Given the description of an element on the screen output the (x, y) to click on. 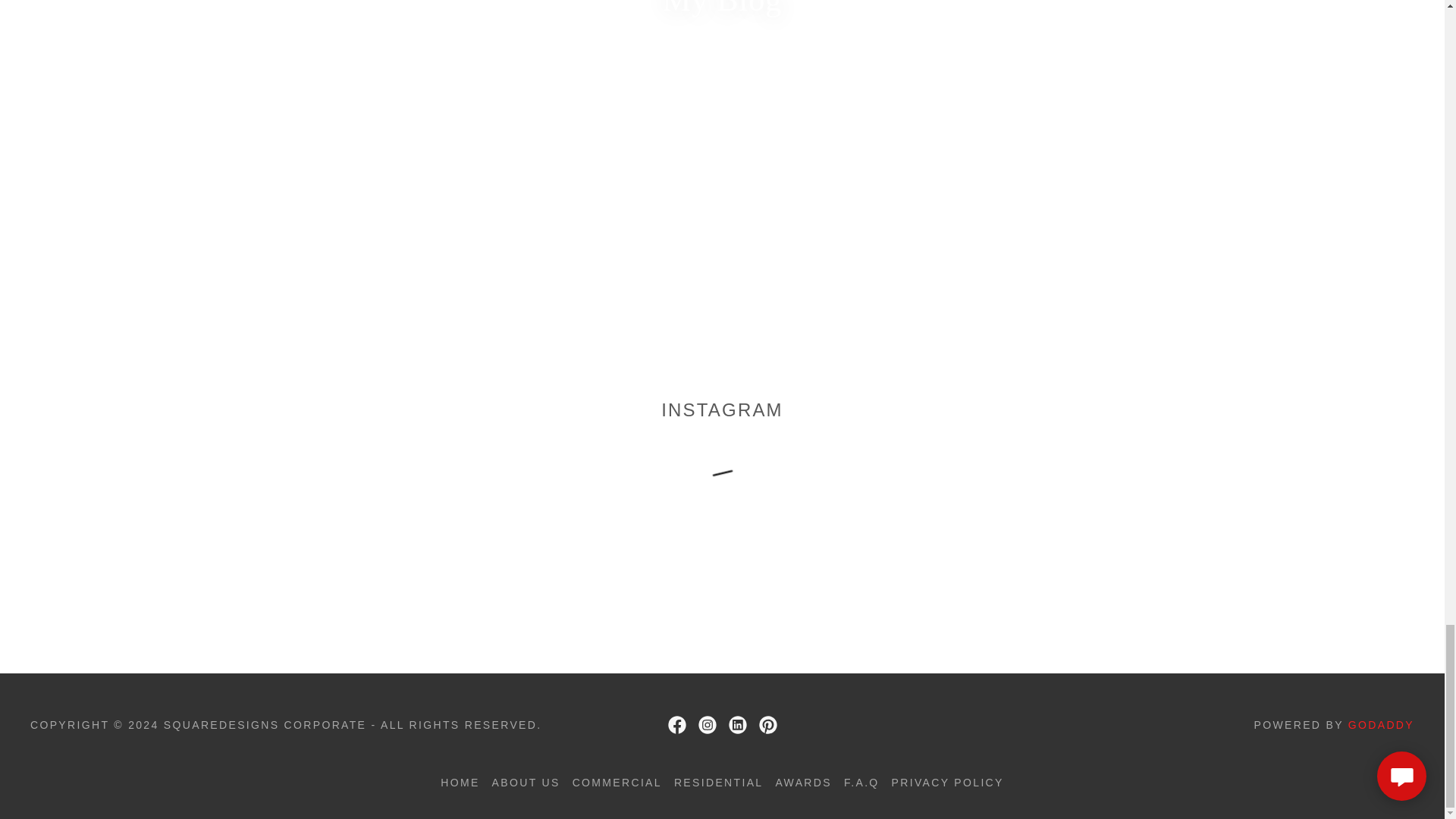
GODADDY (1380, 725)
HOME (458, 782)
ABOUT US (526, 782)
